Given the description of an element on the screen output the (x, y) to click on. 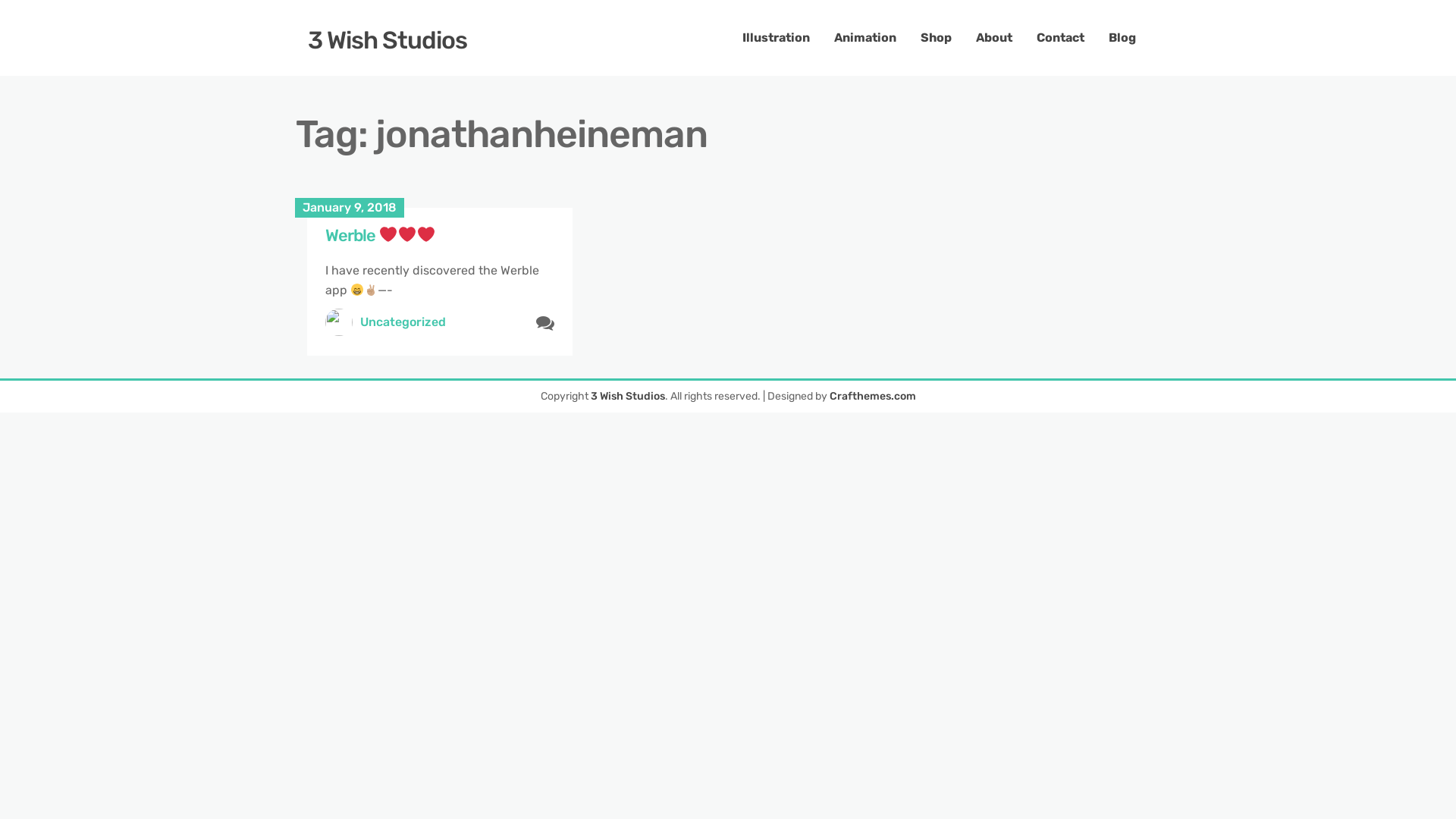
Shop Element type: text (935, 37)
Uncategorized Element type: text (402, 321)
3 Wish Studios Element type: text (387, 39)
Contact Element type: text (1060, 37)
3 Wish Studios Element type: text (626, 395)
Werble Element type: text (380, 235)
Blog Element type: text (1122, 37)
Animation Element type: text (865, 37)
Crafthemes.com Element type: text (872, 395)
About Element type: text (993, 37)
Illustration Element type: text (776, 37)
